Given the description of an element on the screen output the (x, y) to click on. 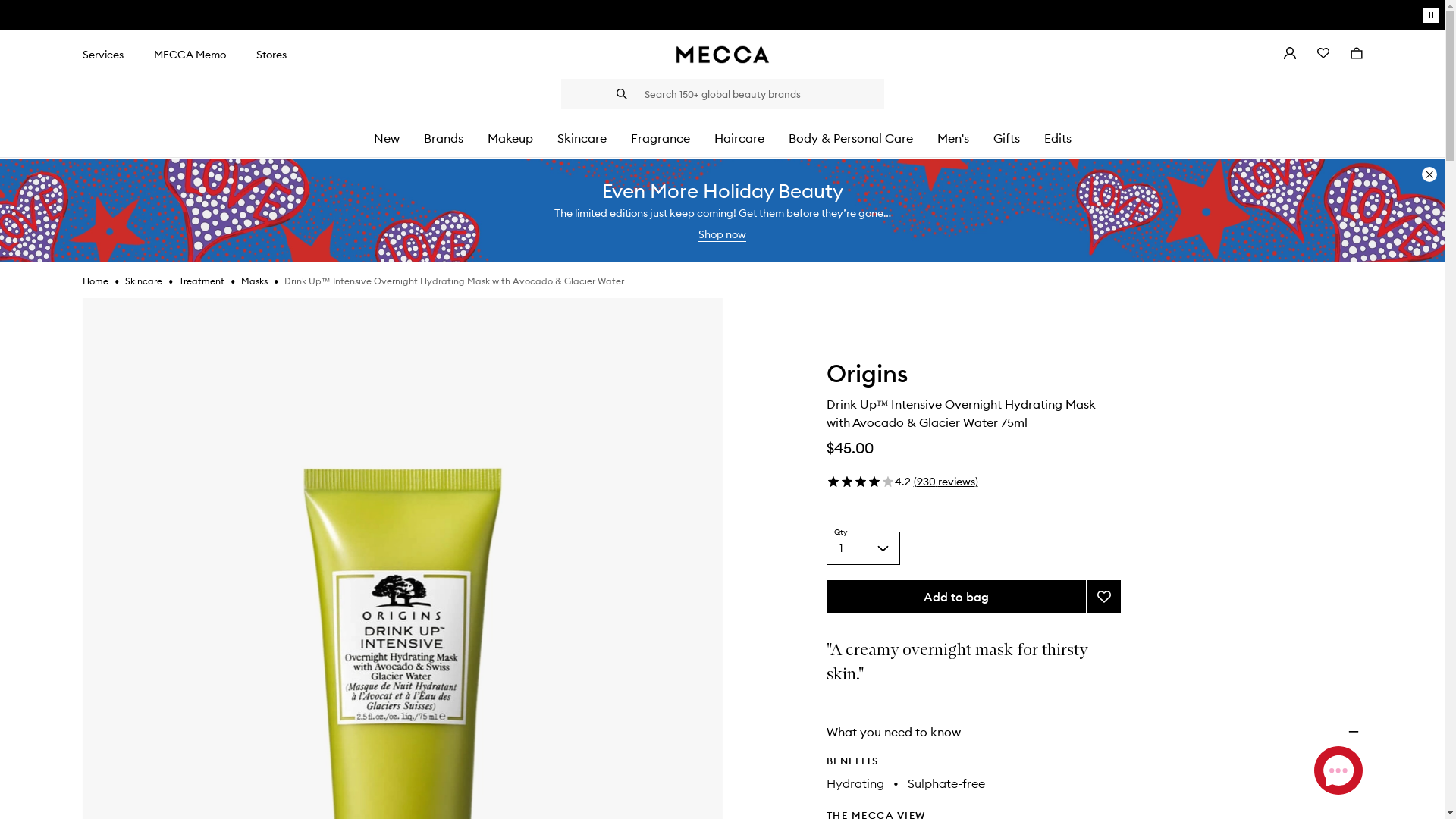
Gifts Element type: text (1006, 137)
Skincare Element type: text (580, 137)
1 Element type: text (863, 547)
Skip product images Element type: text (81, 297)
Treatment Element type: text (201, 281)
Dismiss banner Element type: text (1429, 174)
Origins Element type: text (867, 376)
(930 reviews) Element type: text (945, 481)
Men's Element type: text (953, 137)
Masks Element type: text (254, 281)
Chat with us Element type: text (1337, 770)
Body & Personal Care Element type: text (850, 137)
Account Element type: text (1288, 54)
Brands Element type: text (442, 137)
Fragrance Element type: text (660, 137)
Pause movement Element type: text (1430, 14)
Home Element type: text (94, 281)
New Element type: text (385, 137)
Stores Element type: text (271, 54)
Shop now Element type: text (722, 234)
Add to bag Element type: text (955, 596)
Bag Element type: text (1355, 54)
Skincare Element type: text (142, 281)
What you need to know Element type: text (1094, 731)
Wishlist Element type: text (1322, 54)
MECCA Memo Element type: text (189, 54)
Makeup Element type: text (509, 137)
Services Element type: text (101, 54)
Haircare Element type: text (739, 137)
Edits Element type: text (1056, 137)
